Given the description of an element on the screen output the (x, y) to click on. 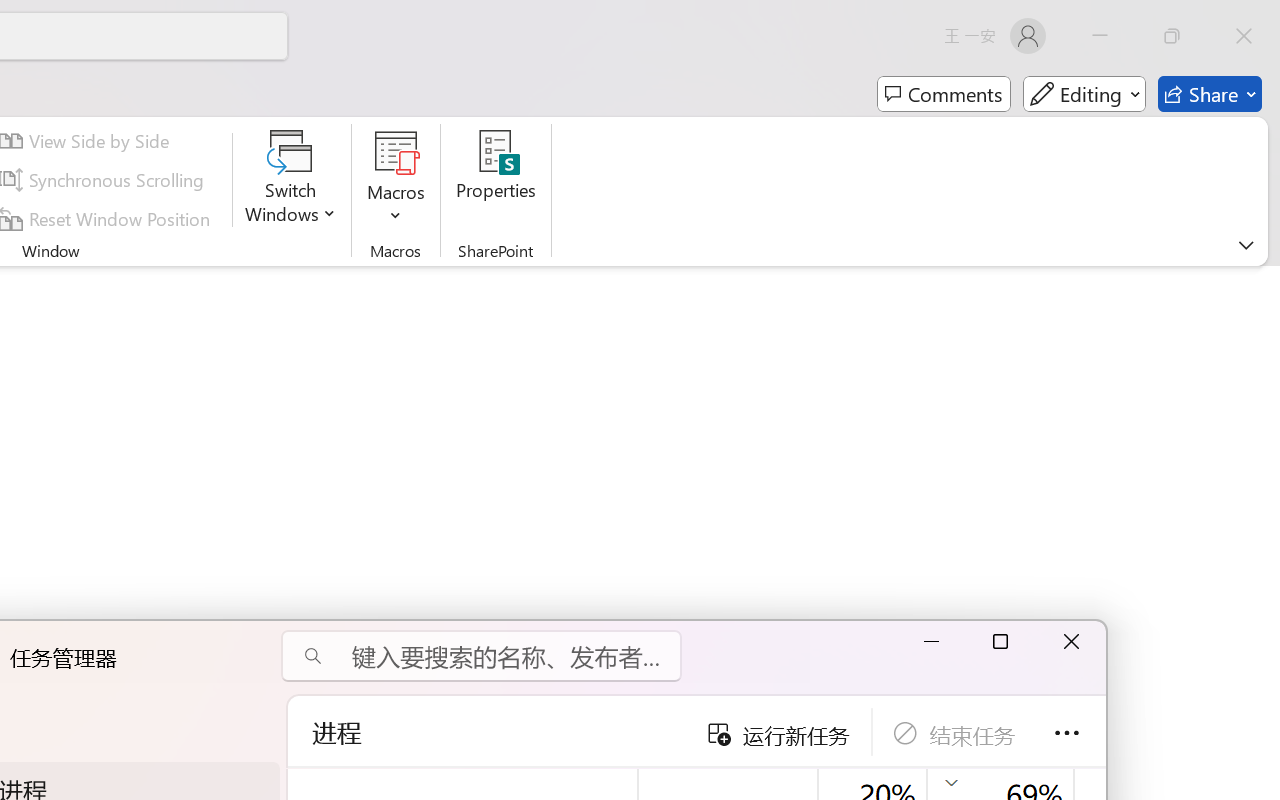
Switch Windows (290, 179)
Properties (496, 179)
Macros (395, 179)
Comments (943, 94)
View Macros (395, 151)
Ribbon Display Options (1246, 245)
Mode (1083, 94)
